Given the description of an element on the screen output the (x, y) to click on. 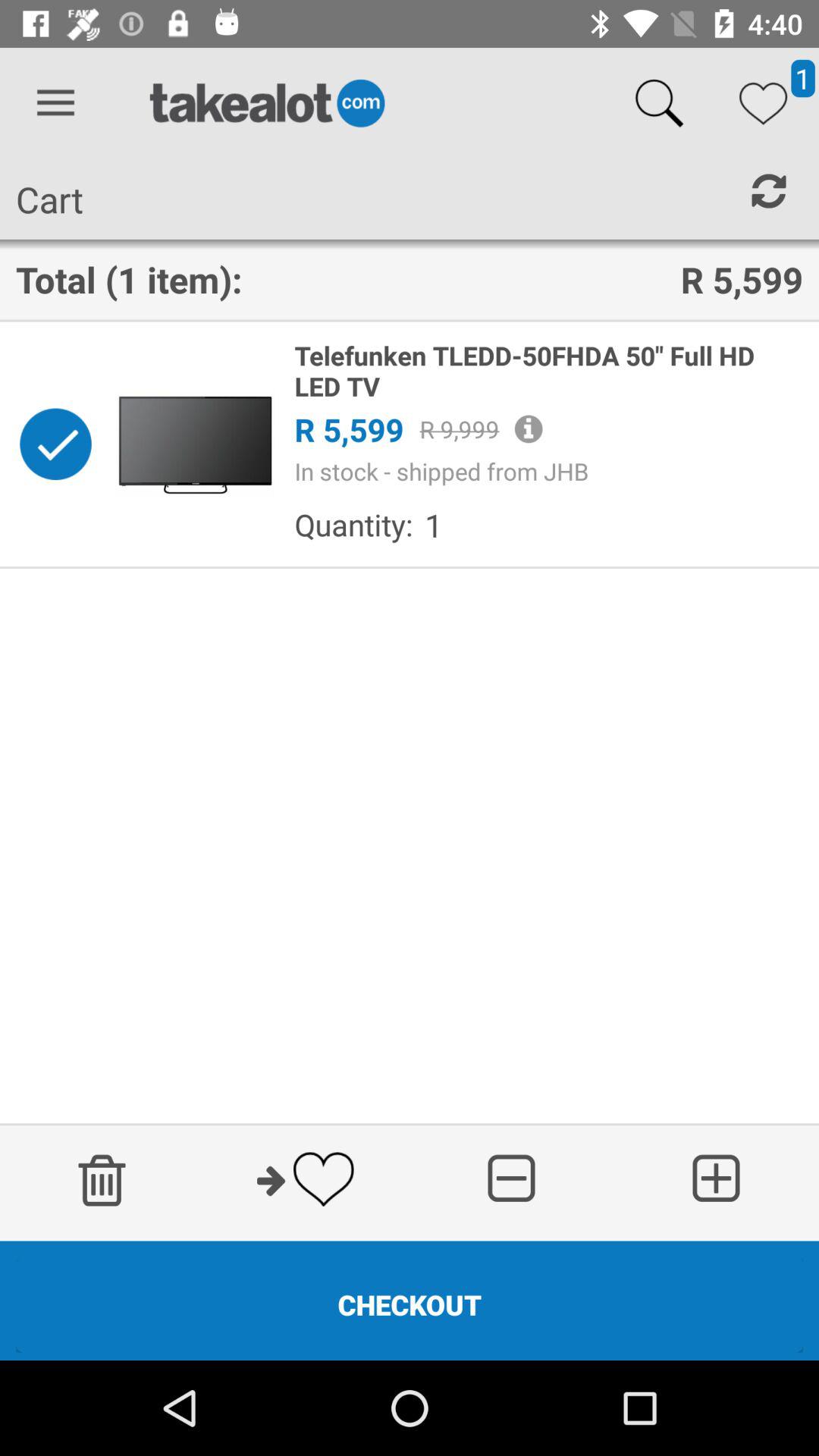
this button is used to select an item (55, 444)
